Given the description of an element on the screen output the (x, y) to click on. 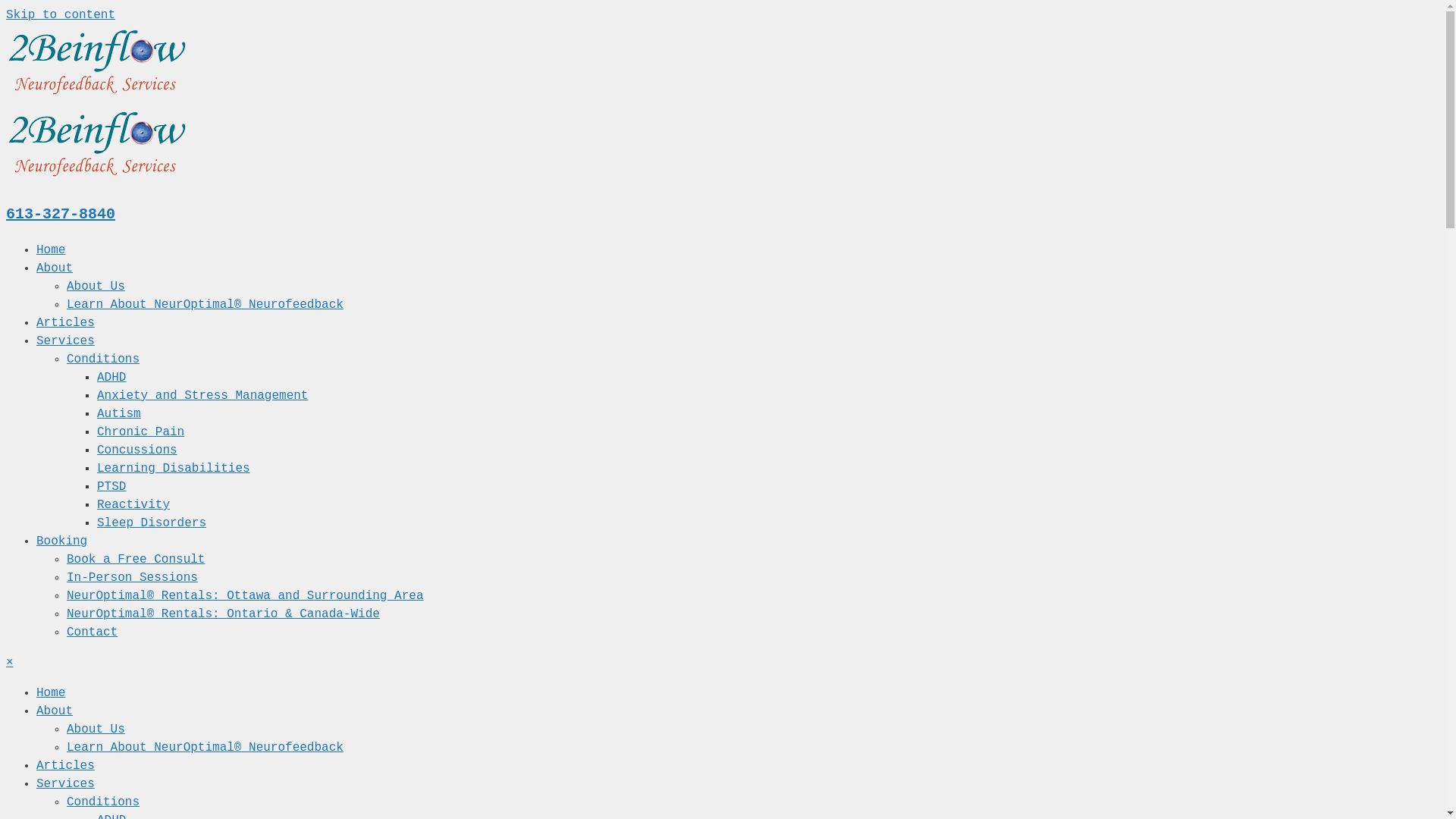
Concussions Element type: text (137, 450)
About Us Element type: text (95, 729)
Autism Element type: text (119, 413)
Contact Element type: text (91, 632)
Reactivity Element type: text (133, 504)
Conditions Element type: text (102, 359)
About Us Element type: text (95, 286)
Learning Disabilities Element type: text (173, 468)
Home Element type: text (50, 692)
Services Element type: text (65, 783)
Anxiety and Stress Management Element type: text (202, 395)
613-327-8840 Element type: text (60, 213)
Book a Free Consult Element type: text (135, 559)
ADHD Element type: text (111, 377)
Articles Element type: text (65, 322)
About Element type: text (54, 711)
Booking Element type: text (61, 541)
In-Person Sessions Element type: text (131, 577)
About Element type: text (54, 268)
Conditions Element type: text (102, 802)
2Beinflow-logo Element type: hover (98, 144)
PTSD Element type: text (111, 486)
Articles Element type: text (65, 765)
Home Element type: text (50, 250)
Sleep Disorders Element type: text (151, 523)
Chronic Pain Element type: text (140, 432)
Services Element type: text (65, 341)
Skip to content Element type: text (60, 14)
2Beinflow-logo Element type: hover (98, 62)
